Given the description of an element on the screen output the (x, y) to click on. 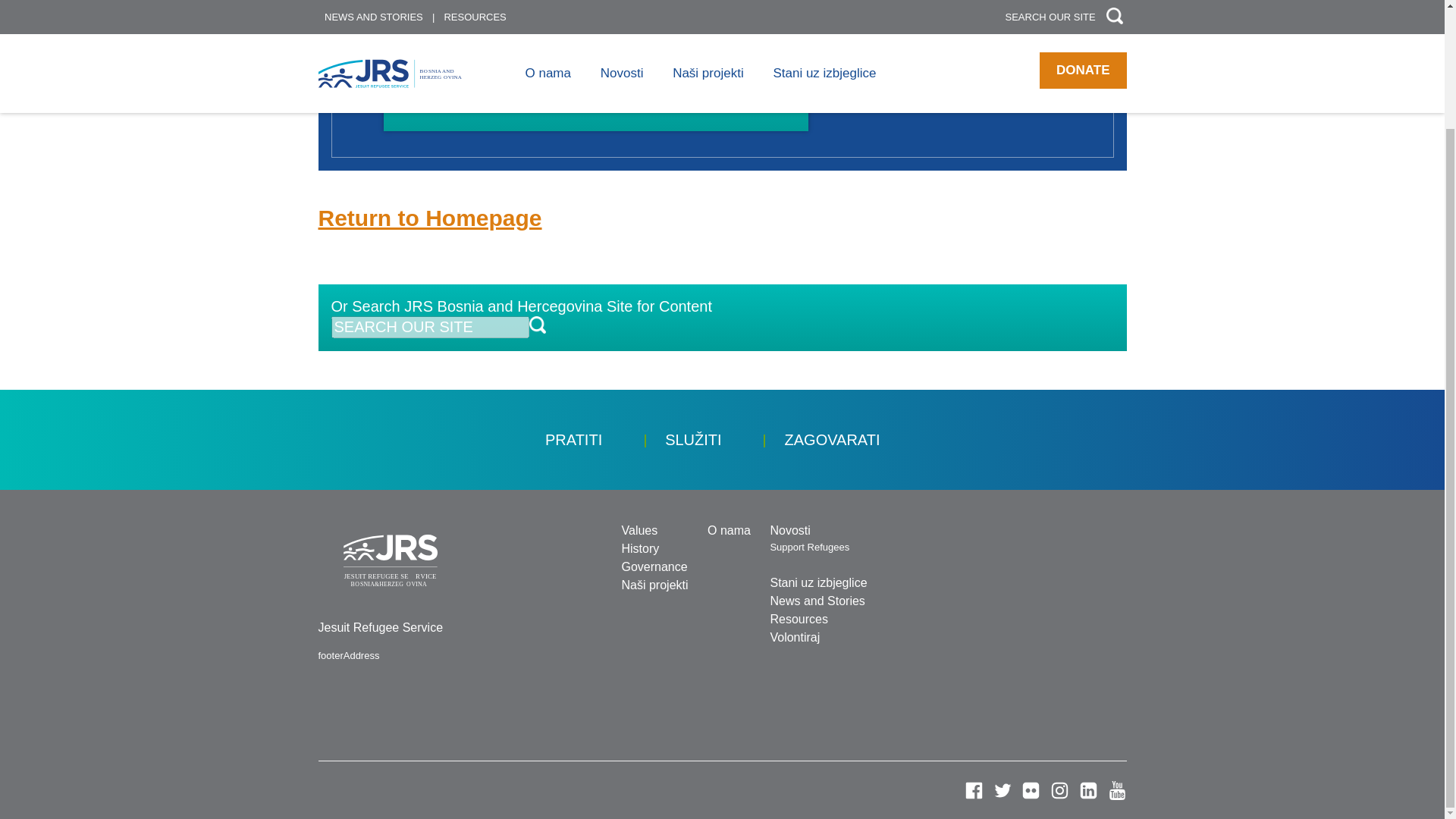
ZAGOVARATI (832, 439)
Stani uz izbjeglice (818, 582)
Flickr (1031, 790)
Governance (654, 566)
Linked In (1087, 790)
Instagram (1058, 790)
O nama (729, 530)
Return to Homepage (429, 217)
Volontiraj (794, 636)
Support Refugees (809, 546)
